Given the description of an element on the screen output the (x, y) to click on. 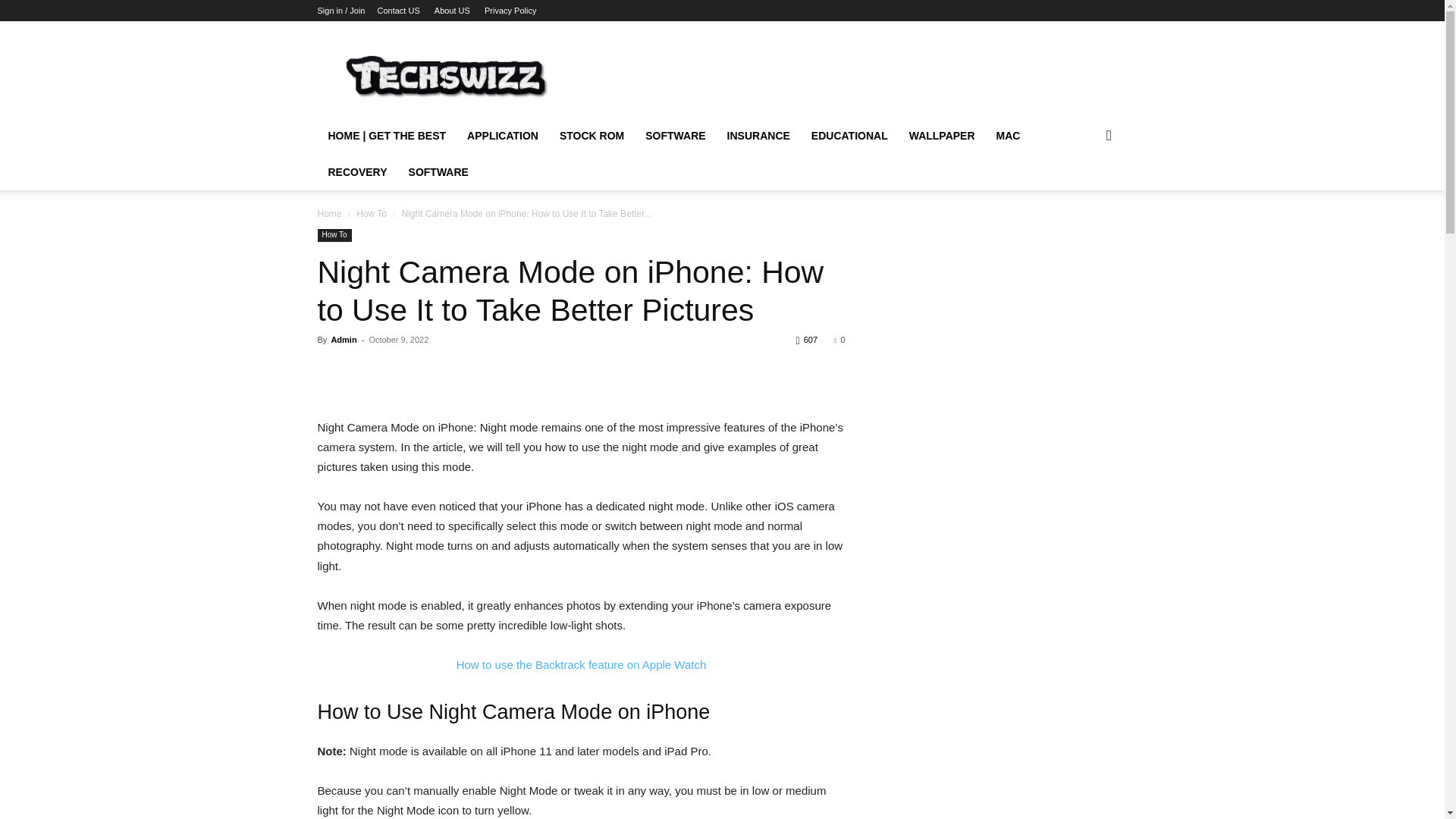
STOCK ROM (591, 135)
Contact US (398, 10)
APPLICATION (502, 135)
About US (451, 10)
View all posts in How To (371, 213)
Privacy Policy (509, 10)
